Given the description of an element on the screen output the (x, y) to click on. 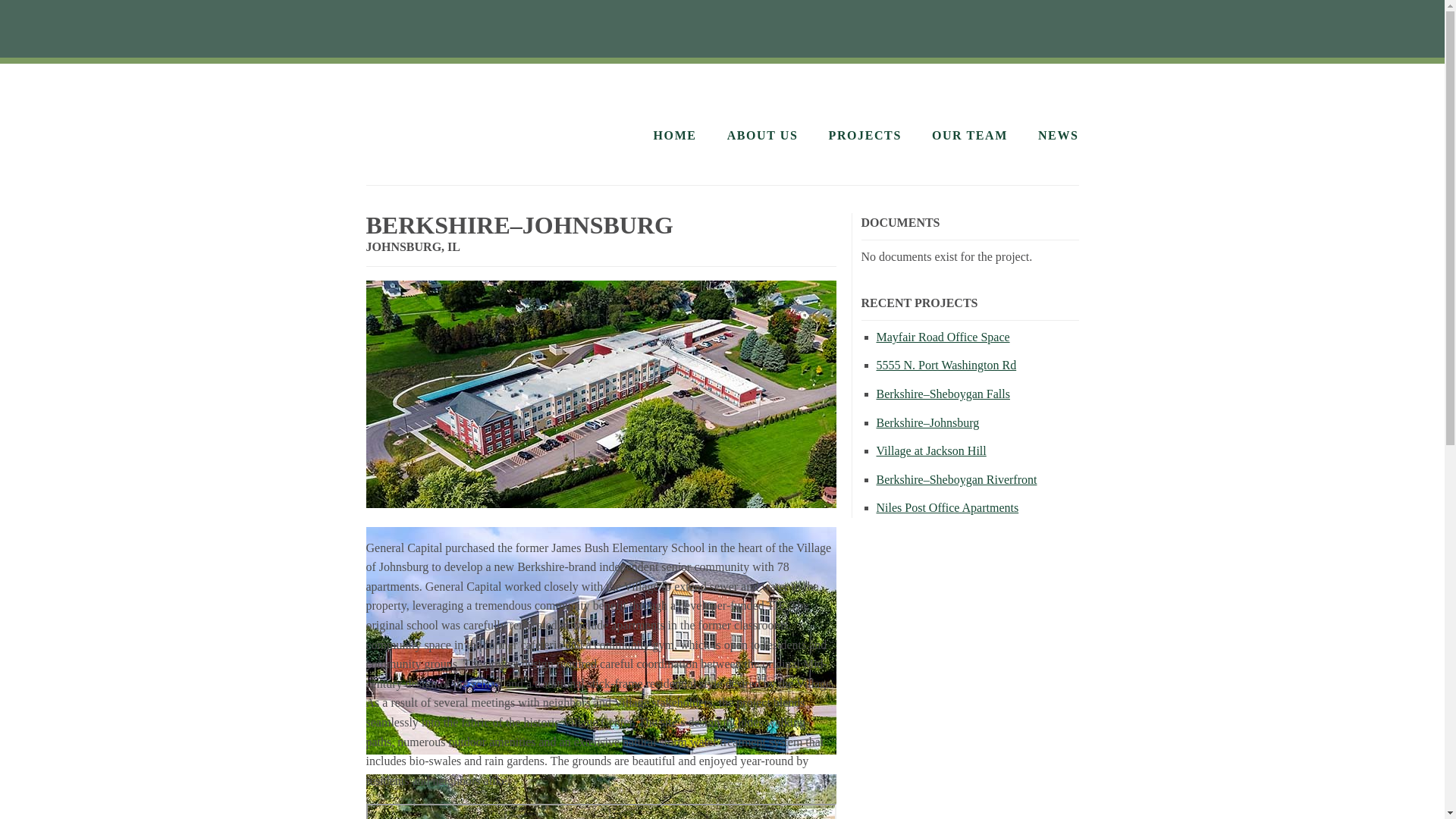
5555 N. Port Washington Rd (946, 364)
OUR TEAM (969, 134)
Mayfair Road Office Space (943, 336)
GENERAL CAPITAL GROUP (488, 119)
Niles Post Office Apartments (947, 507)
Village at Jackson Hill (931, 450)
ABOUT US (761, 134)
HOME (675, 134)
NEWS (1058, 134)
PROJECTS (864, 134)
